Given the description of an element on the screen output the (x, y) to click on. 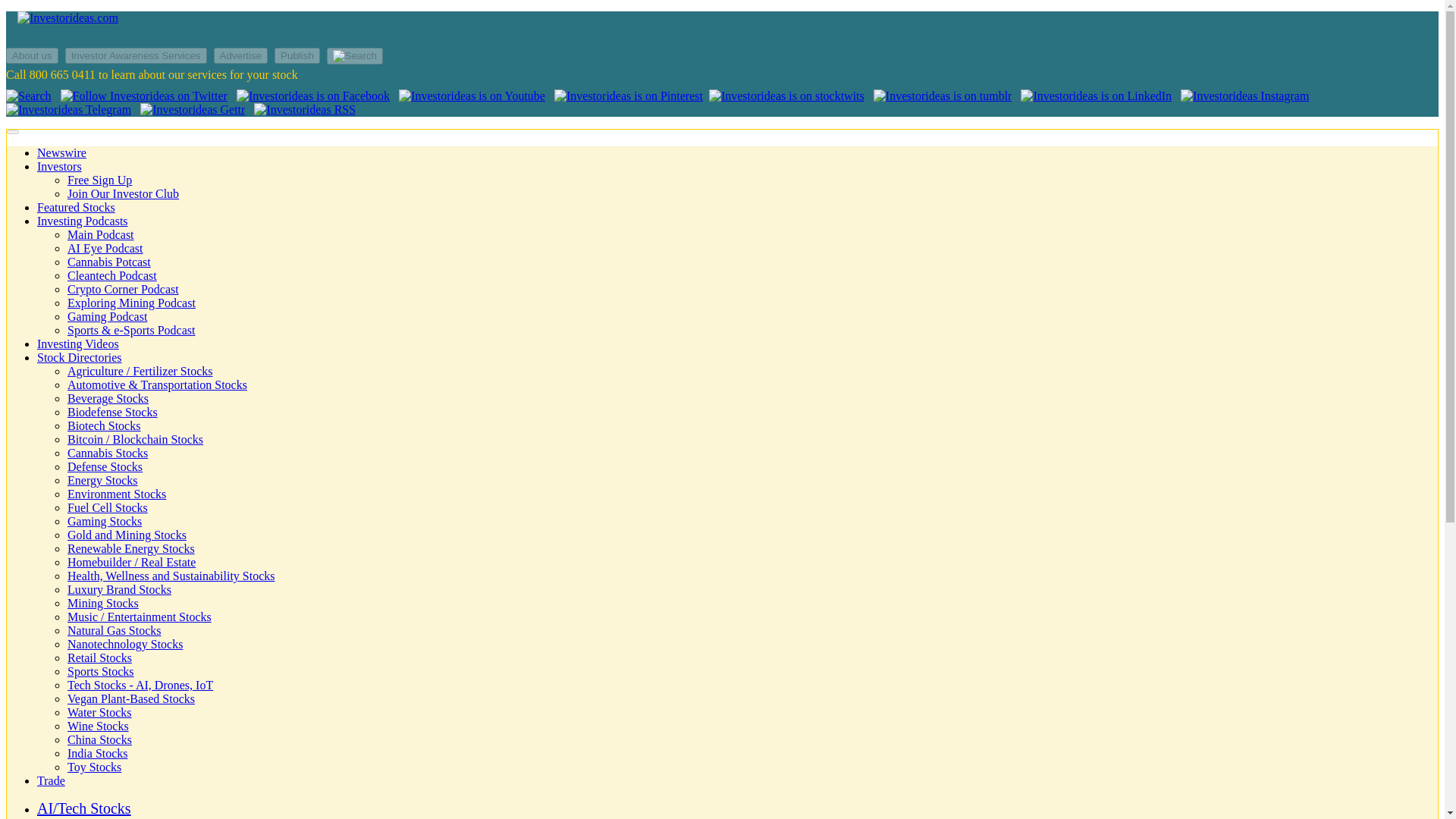
Publish (299, 54)
About us (33, 54)
Investor Awareness Services (135, 55)
Publish (297, 55)
Advertise (240, 55)
About us (31, 55)
Investing Videos (78, 343)
Join Our Investor Club (122, 193)
AI Eye Podcast (104, 247)
Investing Podcasts (82, 220)
